Given the description of an element on the screen output the (x, y) to click on. 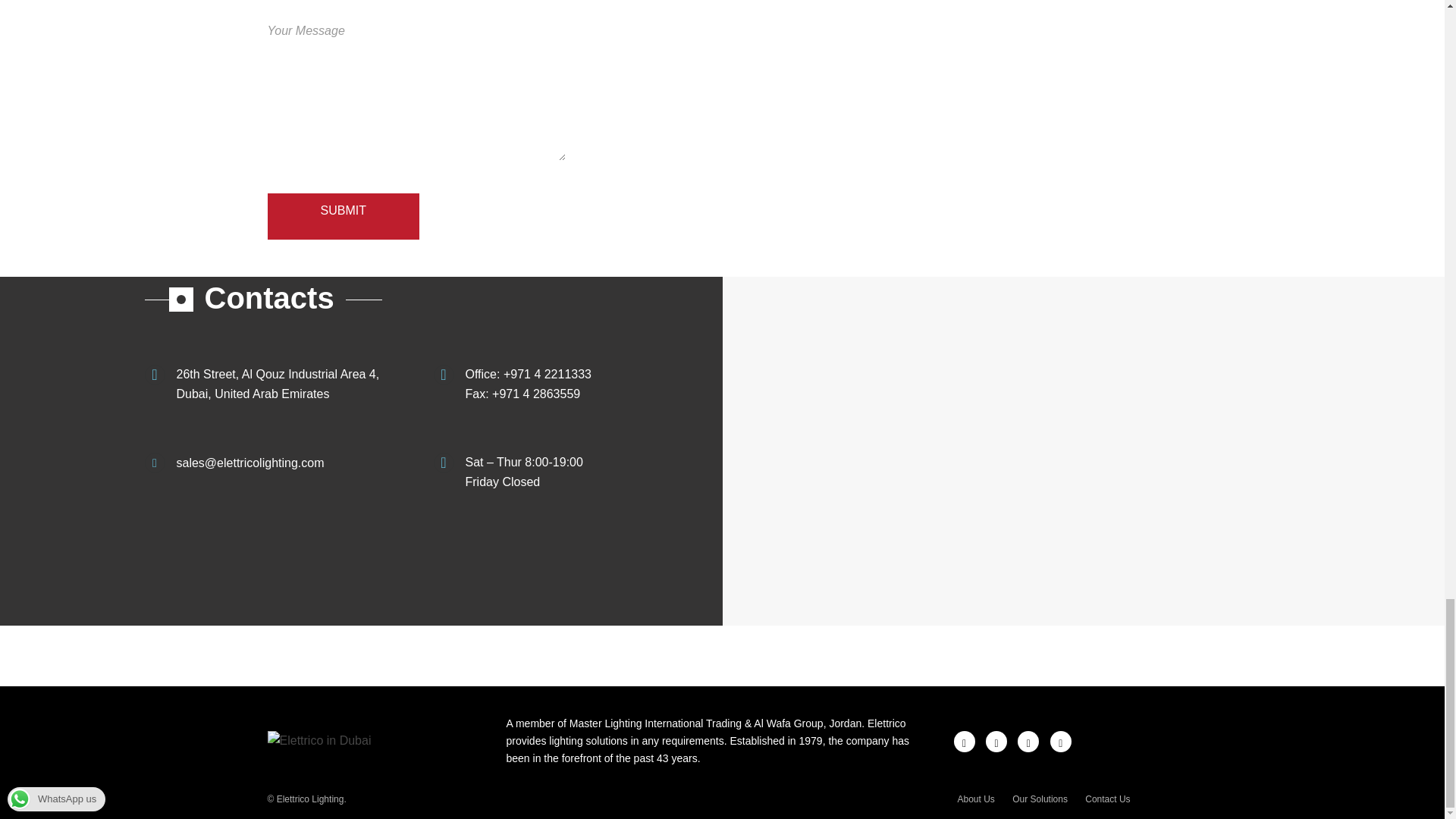
email to Elettrico lighting (249, 462)
fax to Elettrico lighting (535, 393)
call to Elettrico lighting (547, 373)
SUBMIT (342, 210)
